Given the description of an element on the screen output the (x, y) to click on. 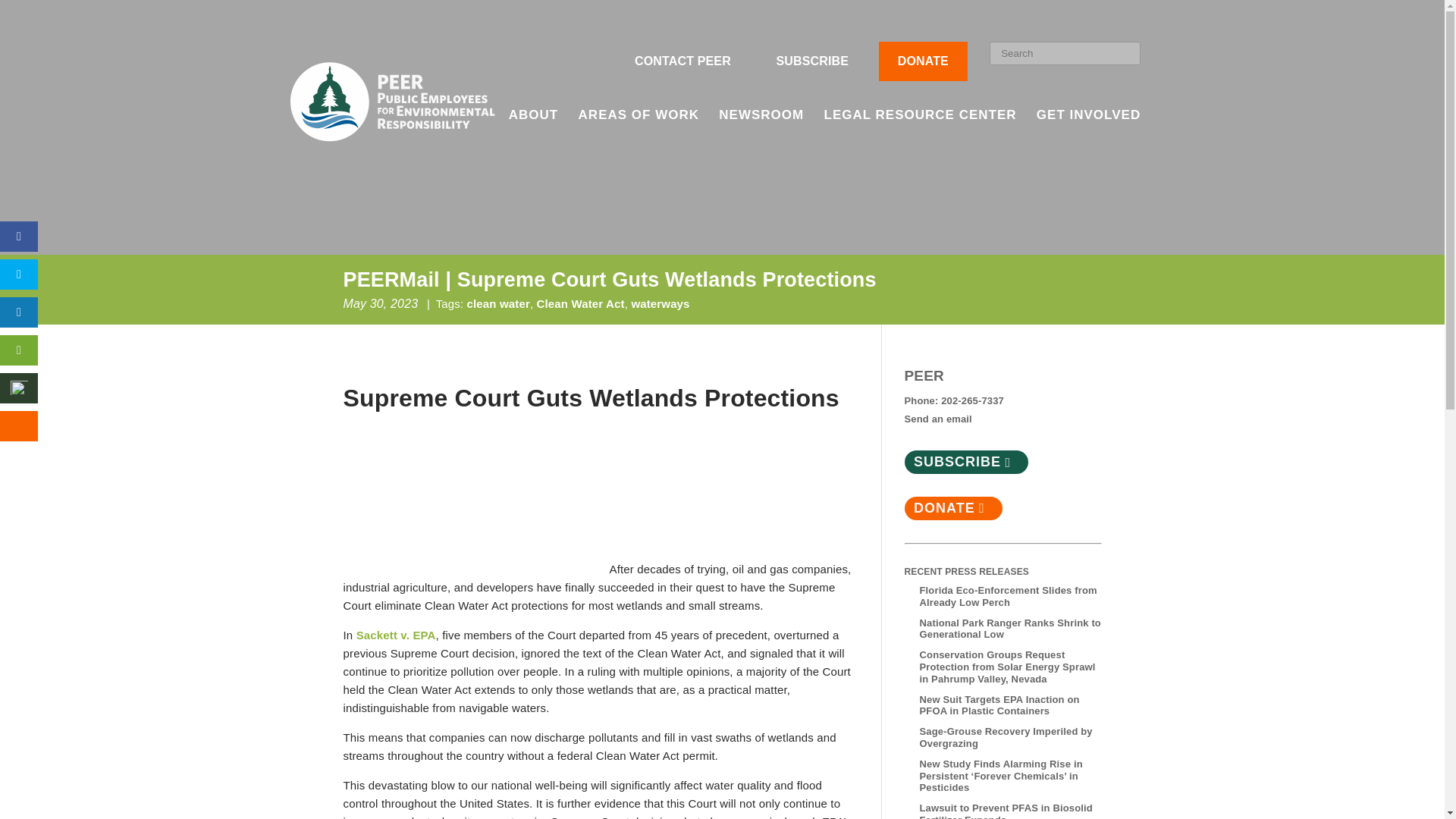
ABOUT (532, 135)
AREAS OF WORK (638, 135)
DONATE (922, 60)
CONTACT PEER (682, 60)
SUBSCRIBE (811, 60)
